Given the description of an element on the screen output the (x, y) to click on. 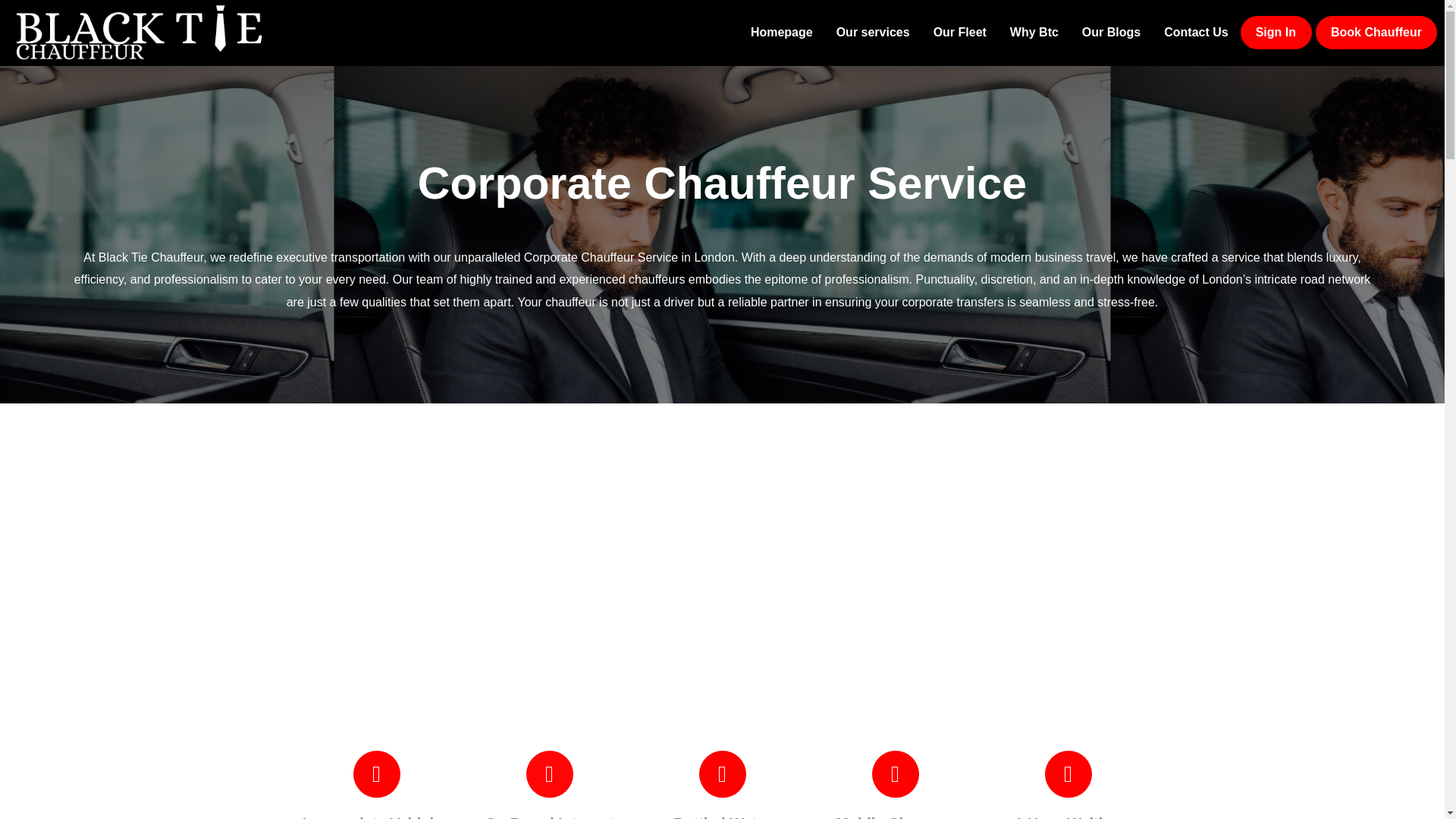
Our Fleet (959, 32)
Contact Us (1196, 32)
Our services (873, 32)
Our Blogs (1110, 32)
Sign In (1275, 32)
Why Btc (1034, 32)
Homepage (781, 32)
Book Chauffeur (1375, 32)
